Given the description of an element on the screen output the (x, y) to click on. 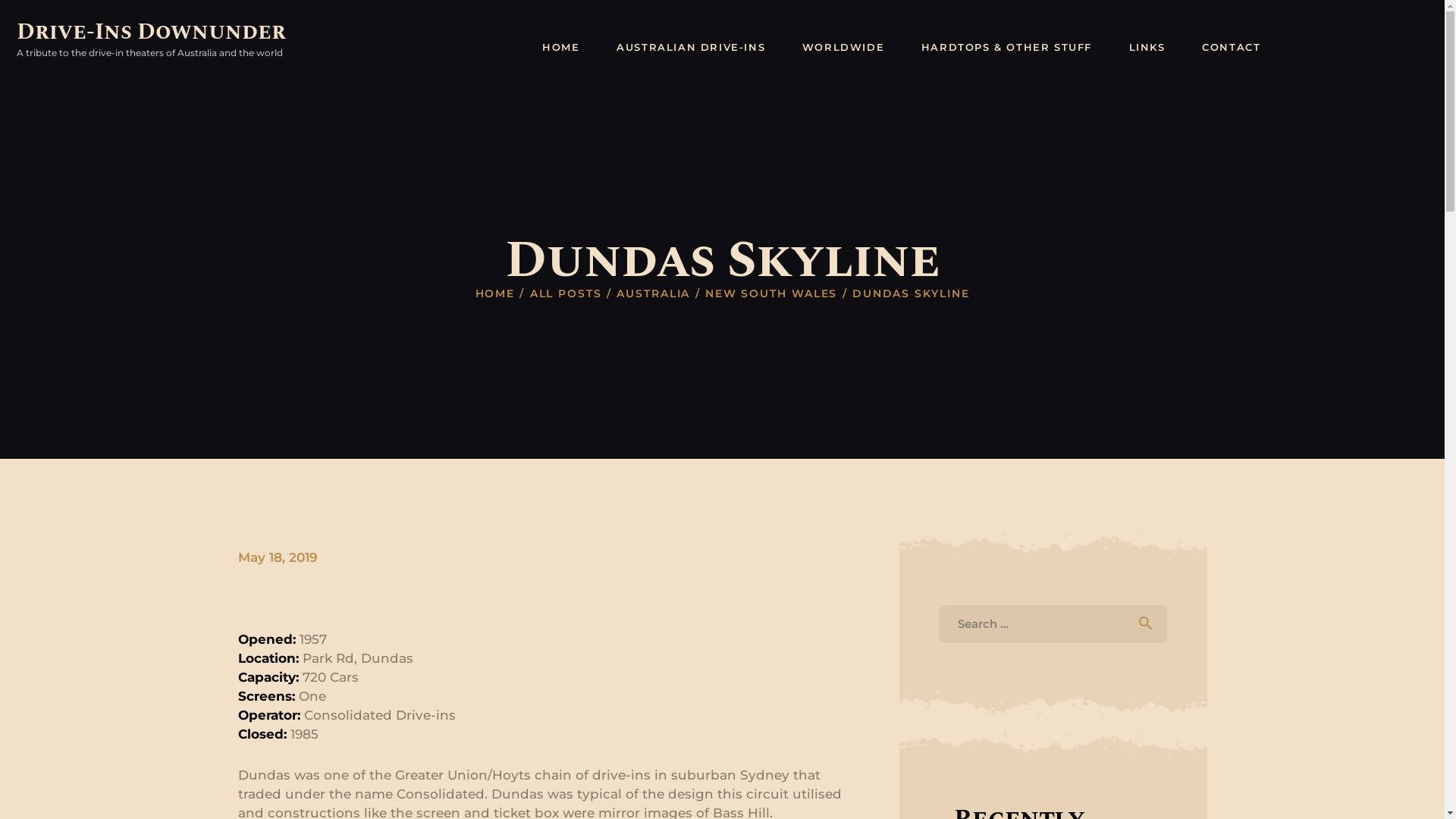
HOME Element type: text (561, 47)
WORLDWIDE Element type: text (843, 47)
Contact Element type: text (1033, 706)
Search Element type: text (1147, 624)
AUSTRALIAN DRIVE-INS Element type: text (691, 47)
HARDTOPS & OTHER STUFF Element type: text (1006, 47)
CONTACT Element type: text (1231, 47)
Home Element type: text (405, 706)
Hardtops & Other Stuff Element type: text (812, 706)
May 18, 2019 Element type: text (277, 556)
Links Element type: text (943, 706)
HOME Element type: text (495, 293)
LINKS Element type: text (1146, 47)
AUSTRALIA Element type: text (653, 293)
NEW SOUTH WALES Element type: text (771, 293)
Australian drive-ins Element type: text (529, 706)
Worldwide Element type: text (664, 706)
ALL POSTS Element type: text (566, 293)
